Given the description of an element on the screen output the (x, y) to click on. 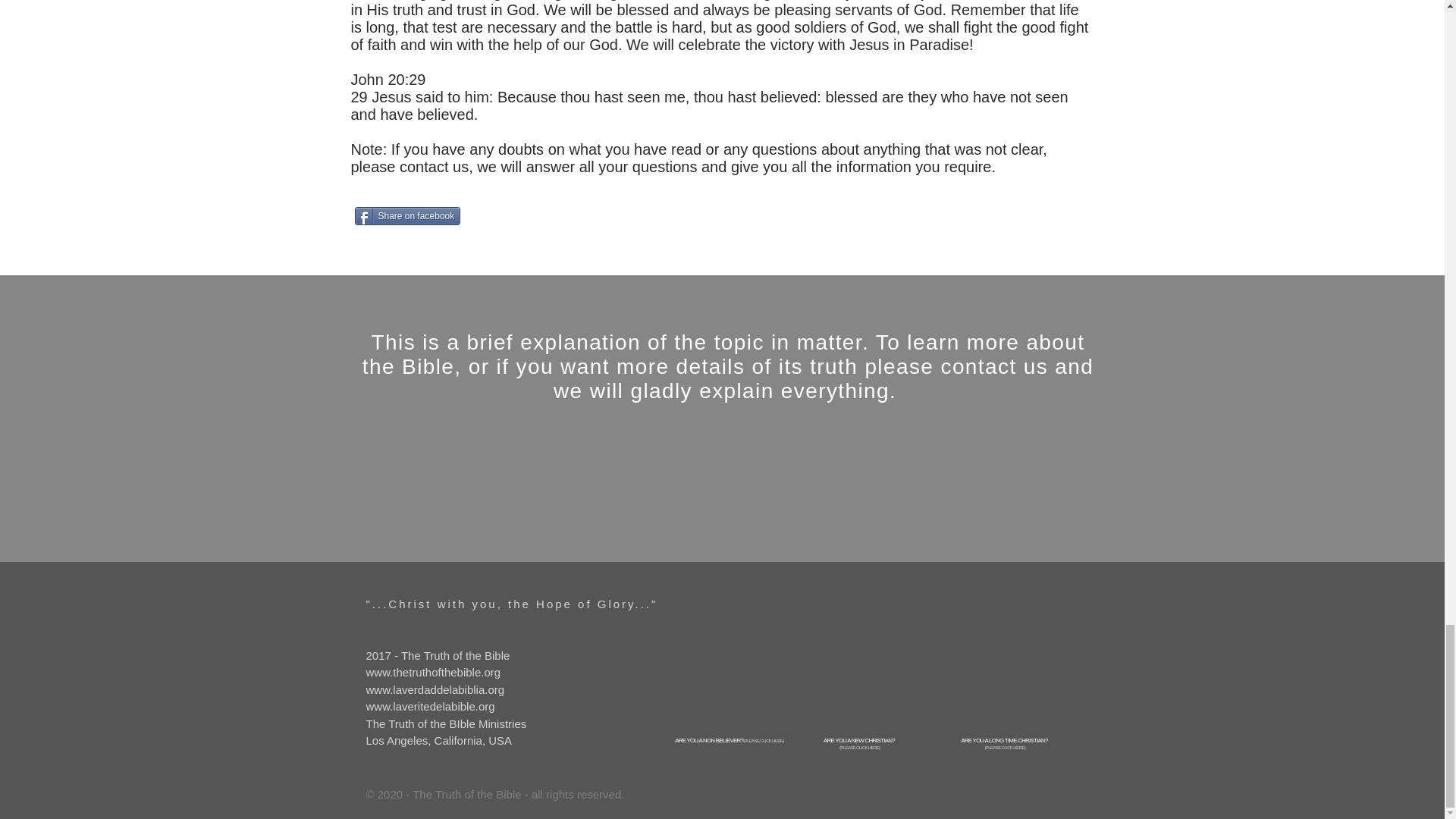
ARE YOU A NEW CHRISTIAN? (859, 740)
Share on facebook (408, 216)
Share on facebook (408, 216)
Twitter Tweet (534, 216)
ARE YOU A LONG TIME CHRISTIAN? (1003, 740)
